Given the description of an element on the screen output the (x, y) to click on. 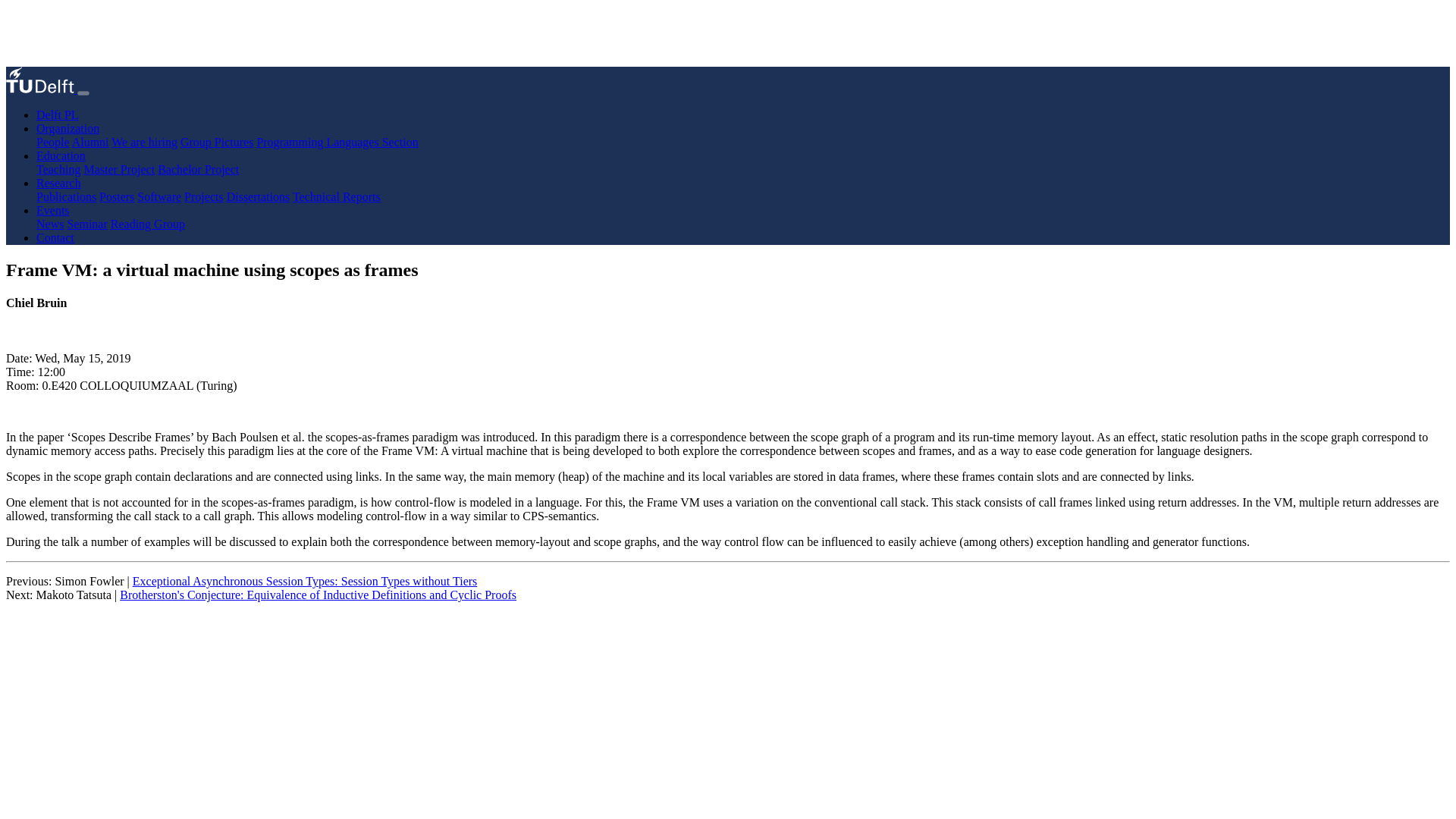
Seminar (86, 223)
People (52, 141)
Events (52, 210)
We are hiring (144, 141)
News (50, 223)
Education (60, 155)
Bachelor Project (197, 169)
Alumni (90, 141)
Programming Languages Section (336, 141)
Research (58, 182)
Organization (67, 128)
Software (158, 196)
Projects (204, 196)
Technical Reports (336, 196)
